Given the description of an element on the screen output the (x, y) to click on. 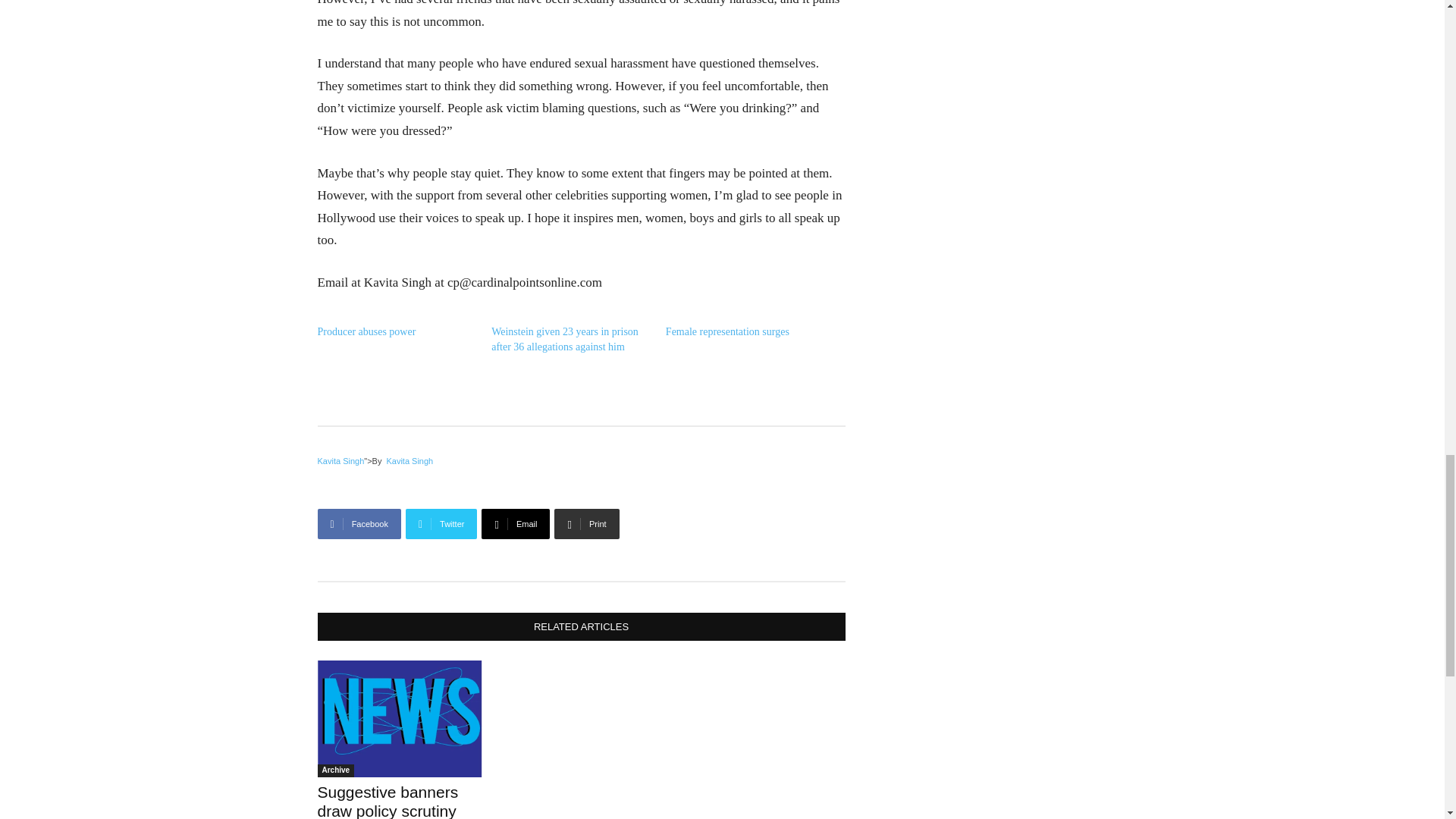
Twitter (441, 523)
Female representation surges (727, 331)
Producer abuses power (365, 331)
Facebook (358, 523)
